Given the description of an element on the screen output the (x, y) to click on. 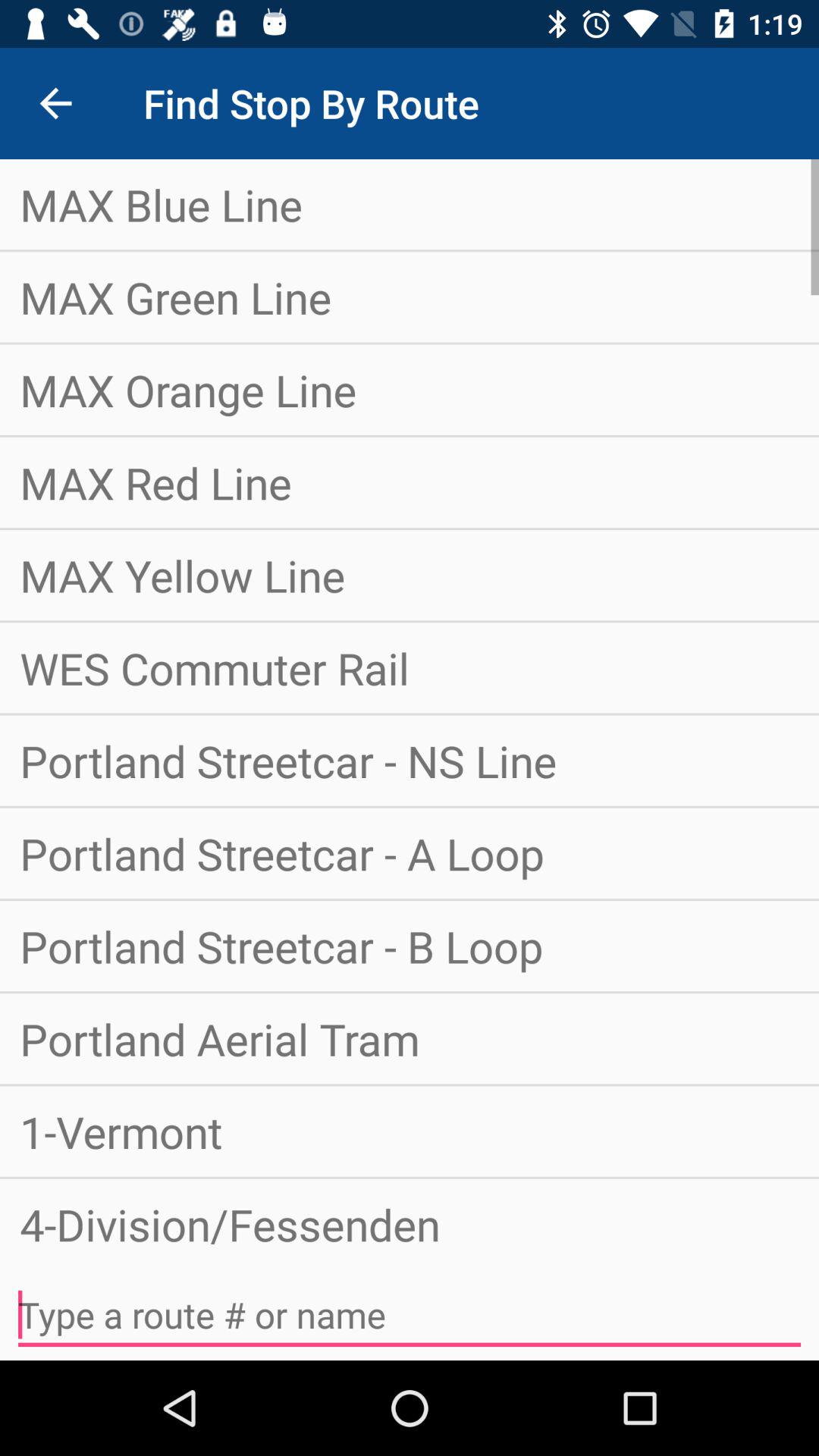
launch icon below the 4-division/fessenden item (409, 1315)
